Given the description of an element on the screen output the (x, y) to click on. 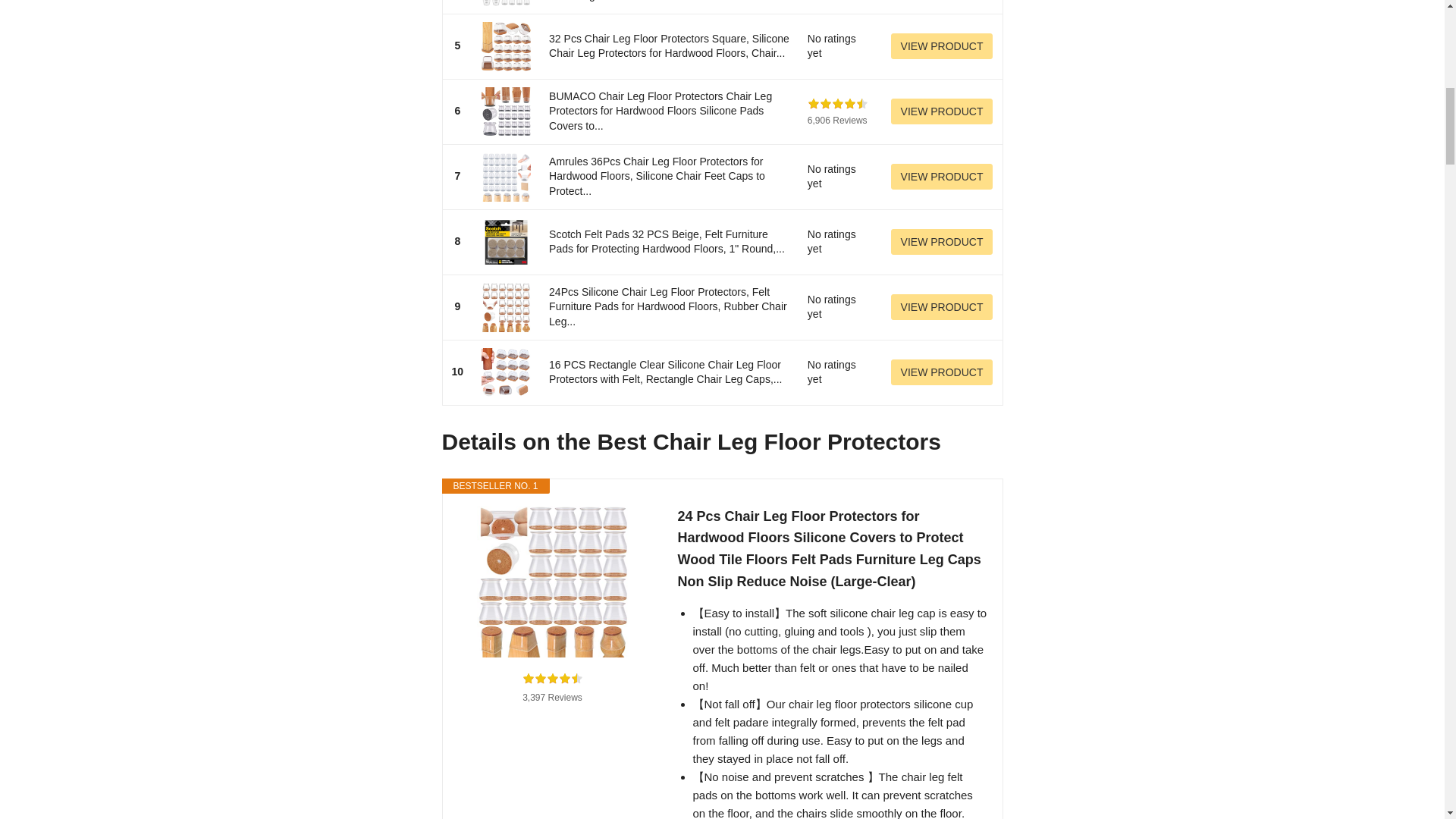
VIEW PRODUCT (941, 307)
VIEW PRODUCT (941, 371)
VIEW PRODUCT (941, 45)
VIEW PRODUCT (941, 241)
VIEW PRODUCT (941, 176)
VIEW PRODUCT (941, 111)
